Given the description of an element on the screen output the (x, y) to click on. 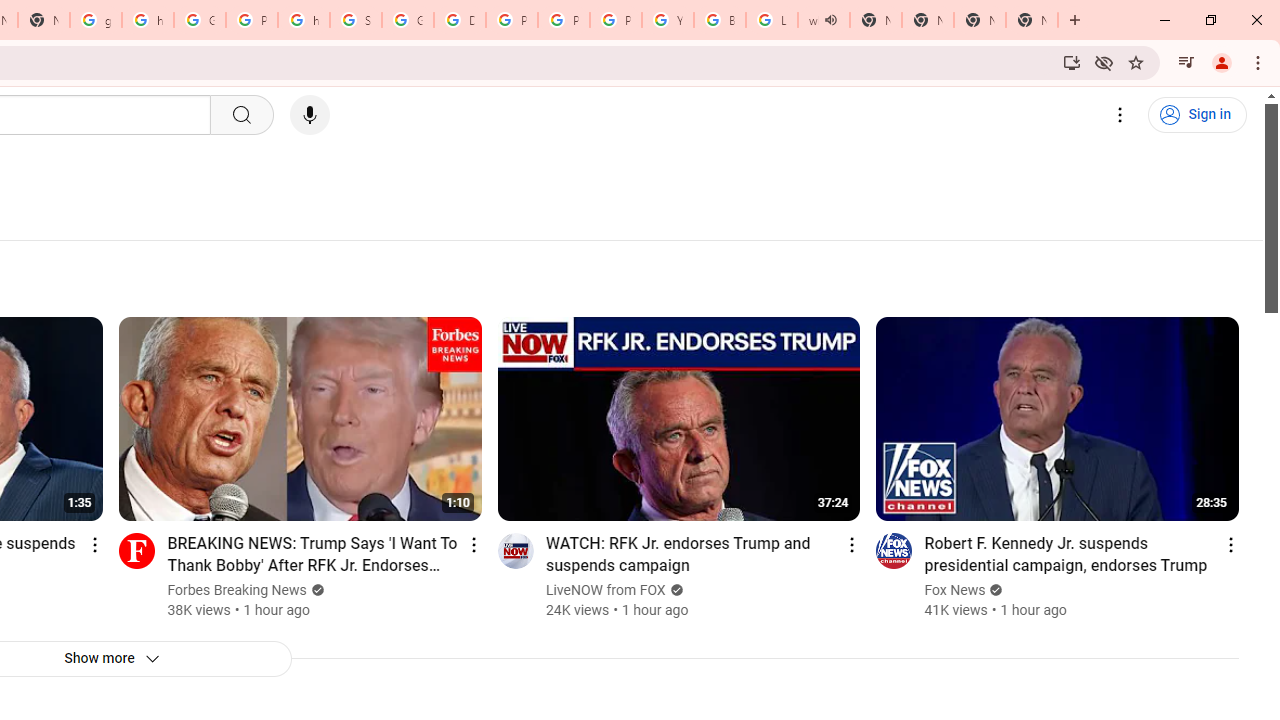
New Tab (979, 20)
Fox News (955, 590)
Search with your voice (309, 115)
New Tab (1032, 20)
LiveNOW from FOX (606, 590)
Privacy Help Center - Policies Help (511, 20)
